Given the description of an element on the screen output the (x, y) to click on. 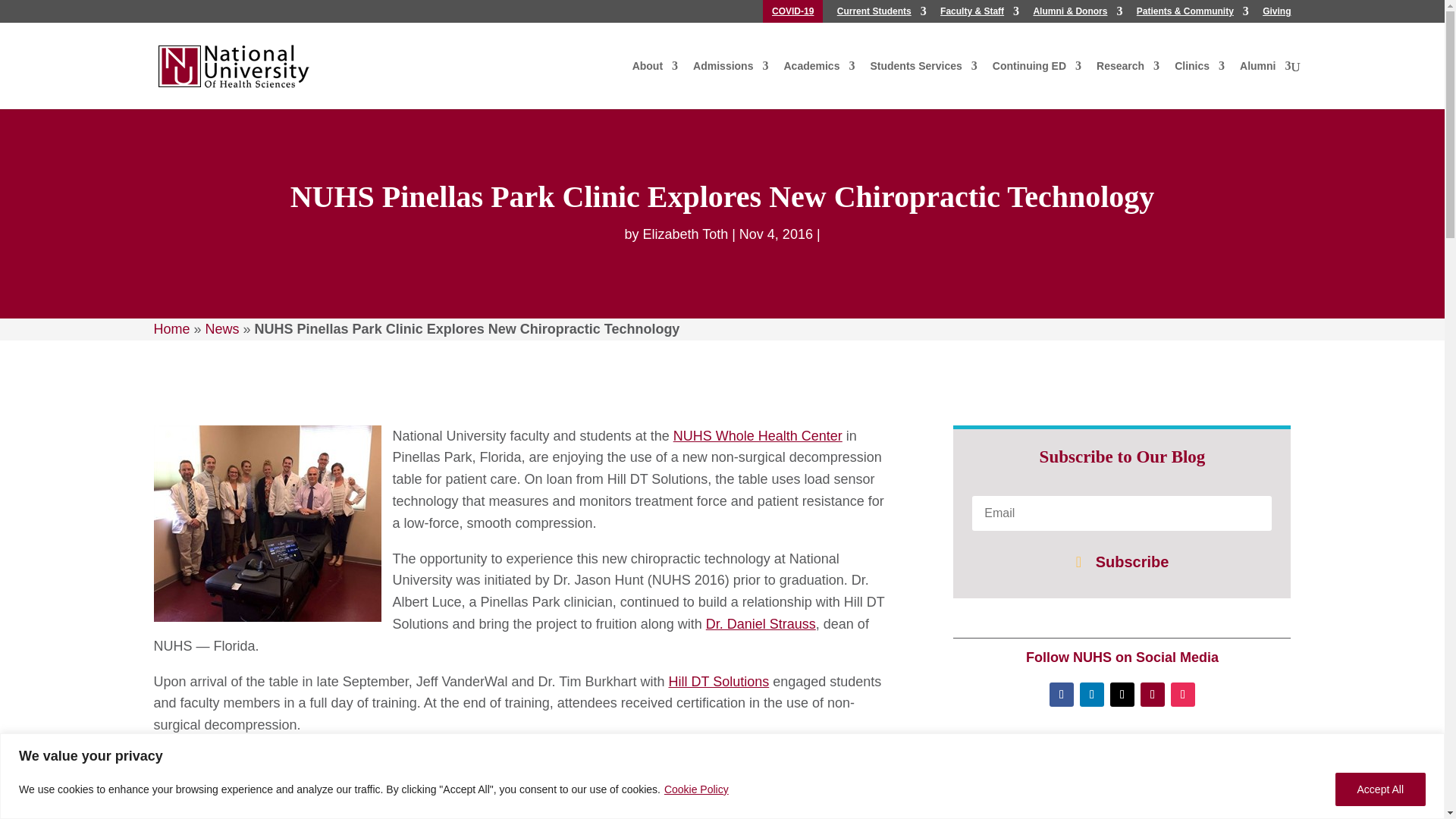
Pinellas Park (757, 435)
COVID-19 (792, 14)
Follow on Youtube (1152, 694)
Follow on Facebook (1061, 694)
Follow on X (1121, 694)
Posts by Elizabeth Toth (685, 233)
Giving (1276, 14)
Follow on Instagram (1182, 694)
Accept All (1380, 788)
About (654, 73)
Cookie Policy (696, 789)
Current Students (881, 14)
Follow on LinkedIn (1091, 694)
Strauss, Daniel (760, 623)
